Given the description of an element on the screen output the (x, y) to click on. 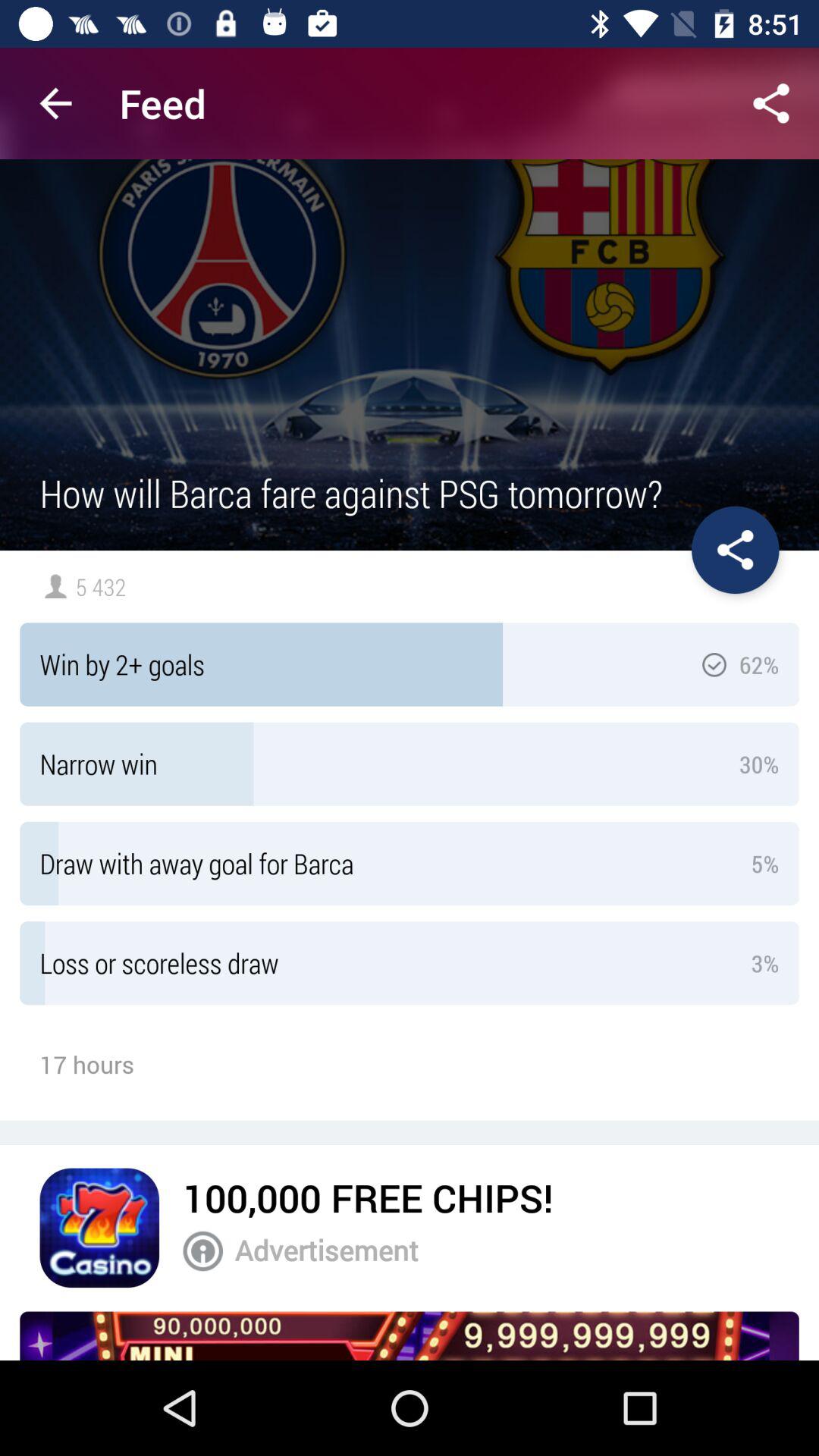
click item above 62% (735, 549)
